Given the description of an element on the screen output the (x, y) to click on. 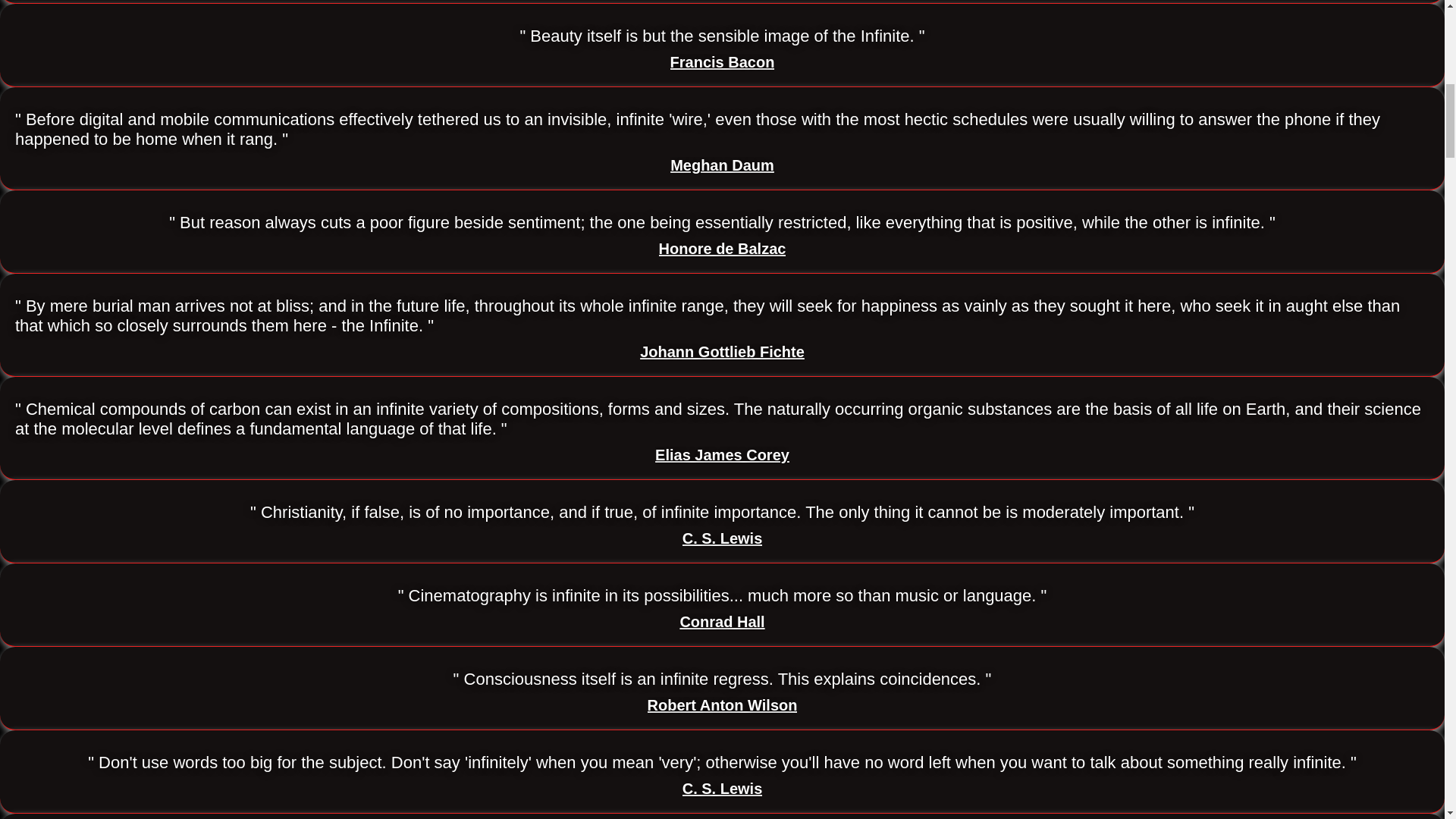
Meghan Daum (721, 165)
" Beauty itself is but the sensible image of the Infinite. " (721, 35)
Francis Bacon (721, 62)
Elias James Corey (722, 455)
Robert Anton Wilson (722, 705)
Conrad Hall (721, 621)
C. S. Lewis (722, 538)
